Given the description of an element on the screen output the (x, y) to click on. 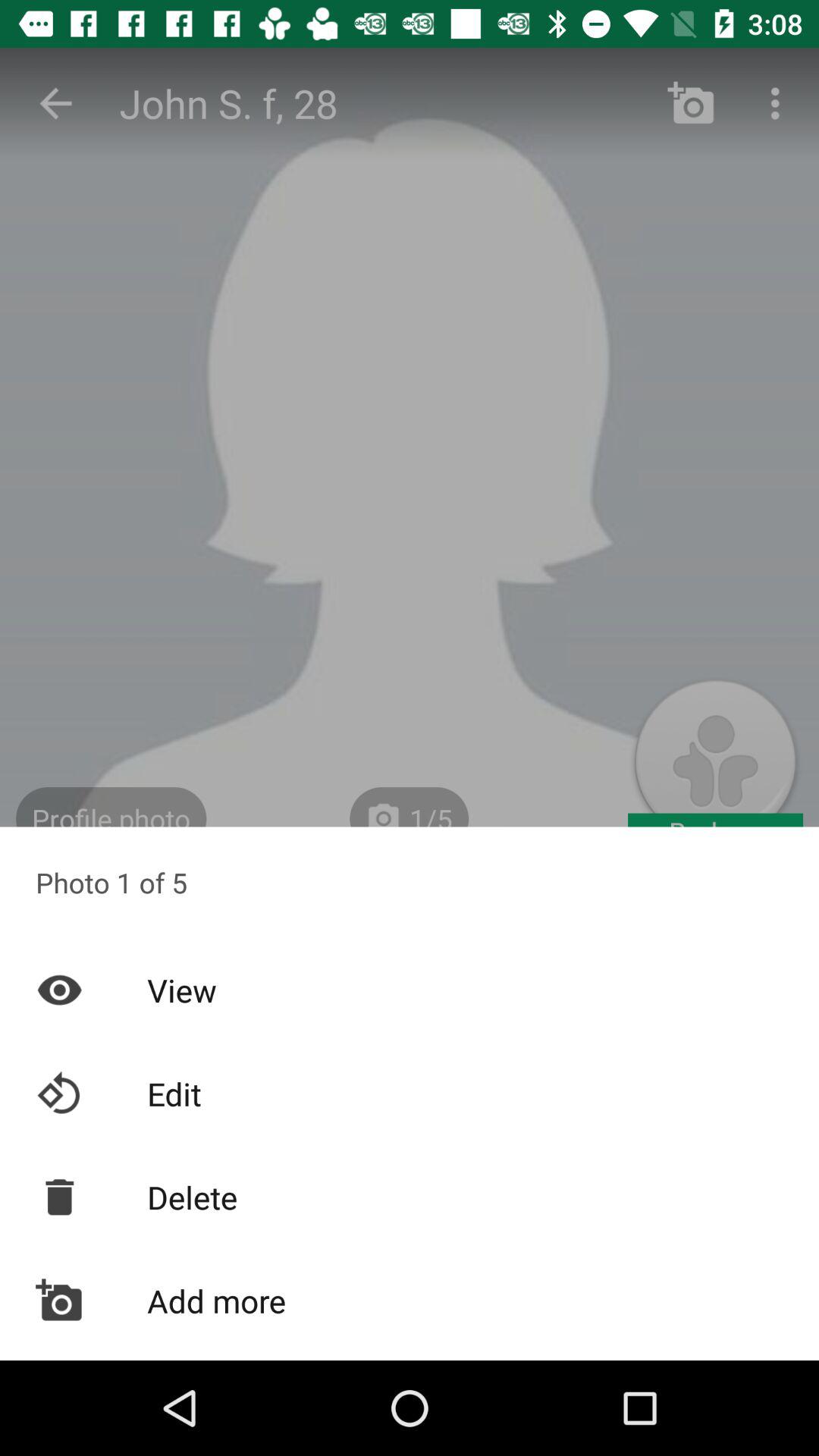
jump until edit icon (409, 1093)
